Given the description of an element on the screen output the (x, y) to click on. 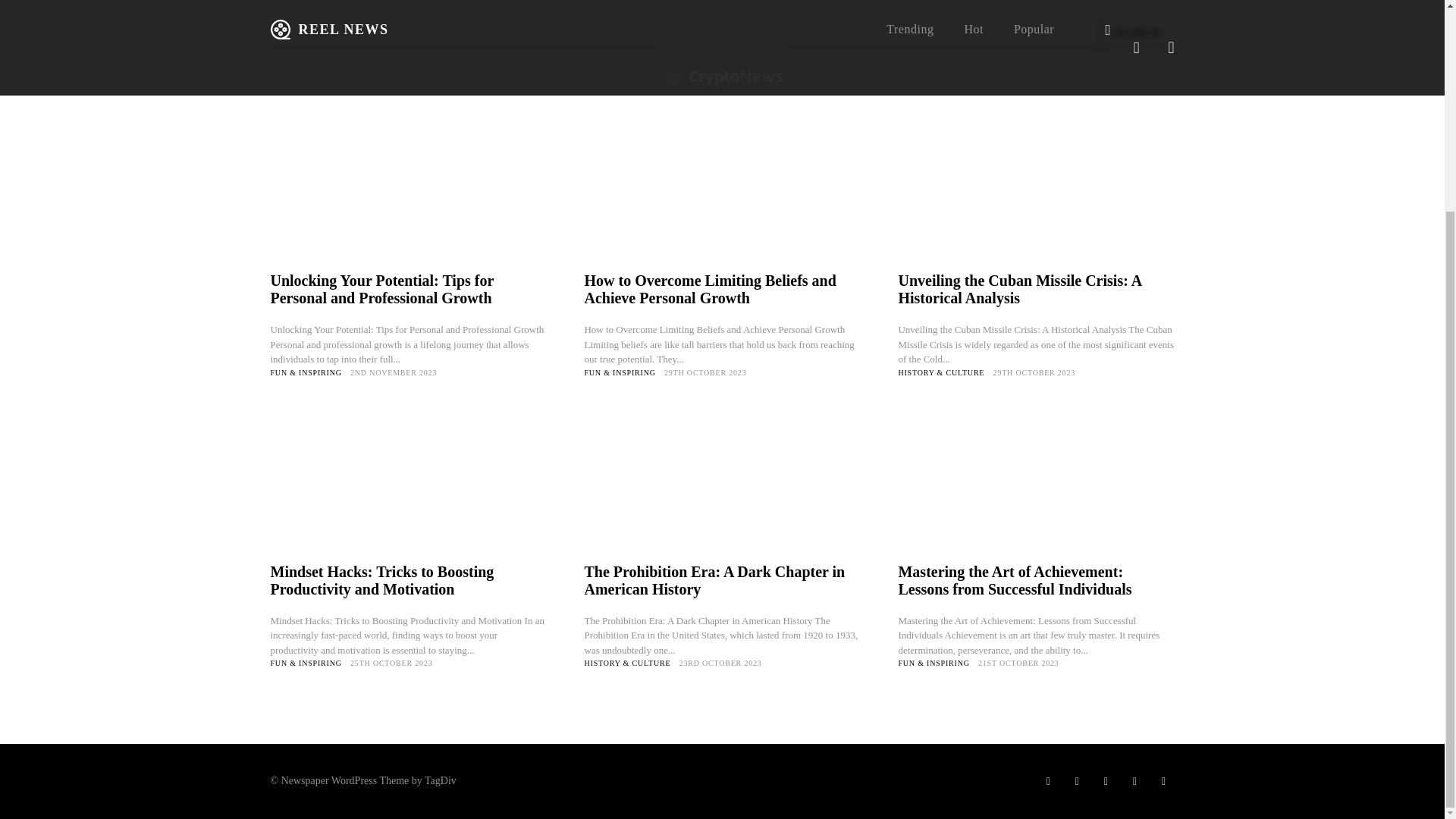
Unveiling the Cuban Missile Crisis: A Historical Analysis (1035, 193)
The Prohibition Era: A Dark Chapter in American History (721, 484)
SEARCH (1136, 31)
Unveiling the Cuban Missile Crisis: A Historical Analysis (1019, 288)
How to Overcome Limiting Beliefs and Achieve Personal Growth (721, 193)
